Given the description of an element on the screen output the (x, y) to click on. 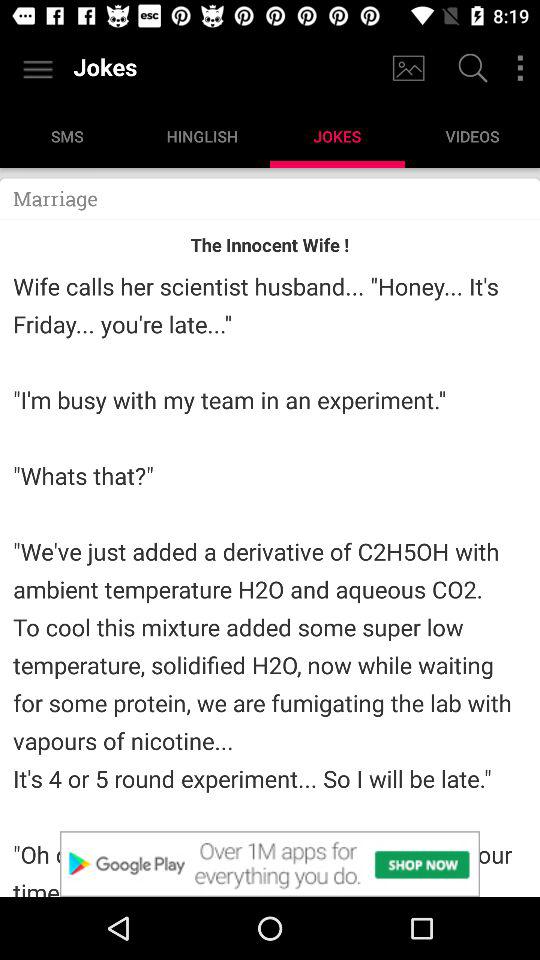
more info (520, 67)
